Given the description of an element on the screen output the (x, y) to click on. 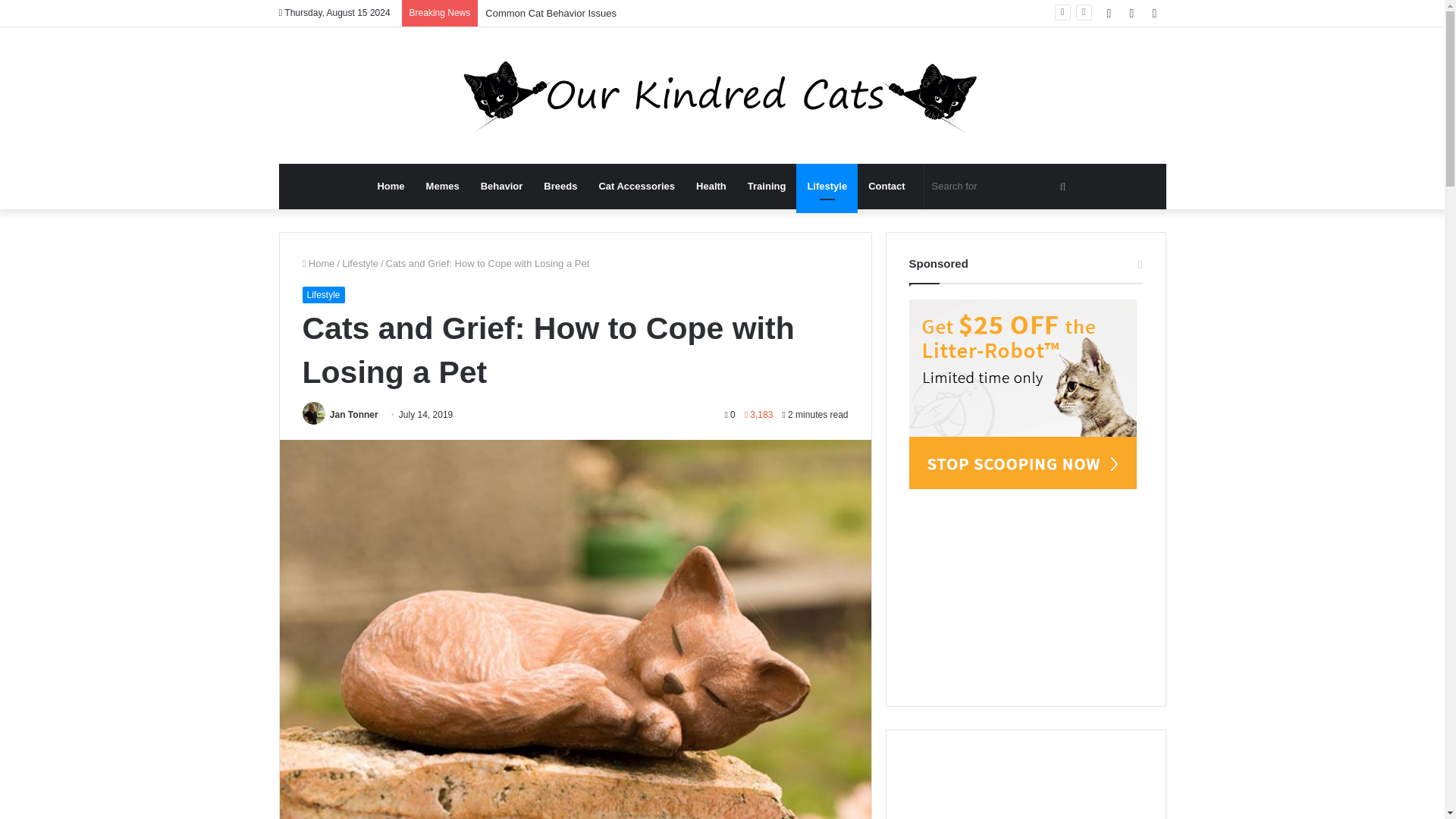
Our Kindred Cats (721, 95)
Jan Tonner (354, 414)
Behavior (502, 186)
Contact (886, 186)
Home (317, 263)
Breeds (560, 186)
Health (710, 186)
Lifestyle (360, 263)
Search for (1001, 186)
Memes (442, 186)
